Given the description of an element on the screen output the (x, y) to click on. 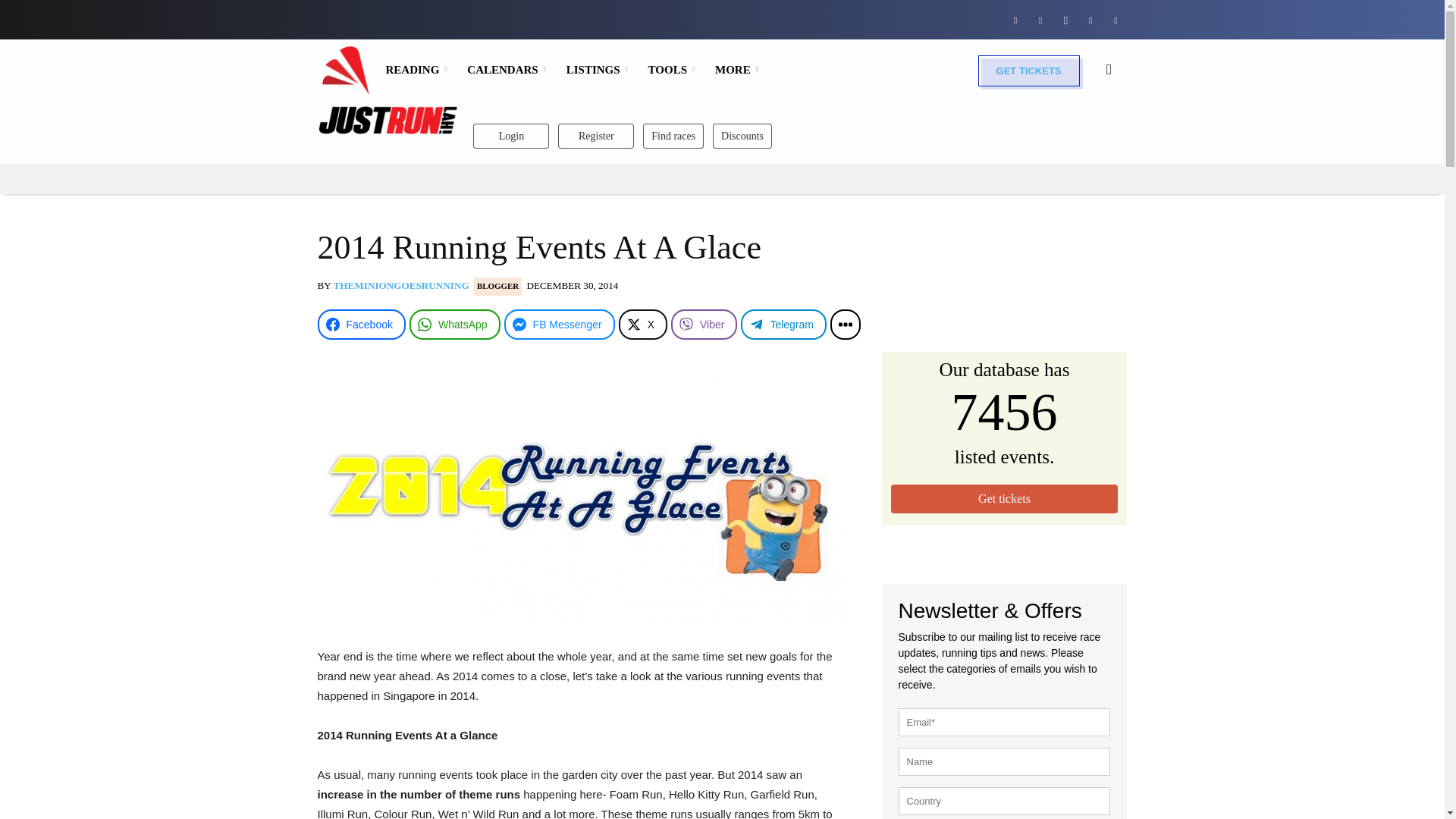
Facebook (1015, 19)
Share on FB Messenger (558, 324)
Share on X (642, 324)
Share on WhatsApp (454, 324)
Twitter (1090, 19)
Flickr (1040, 19)
Written by an independent blogger. Click for more info (497, 285)
Instagram (1065, 19)
Share on Facebook (360, 324)
Youtube (1114, 19)
